Given the description of an element on the screen output the (x, y) to click on. 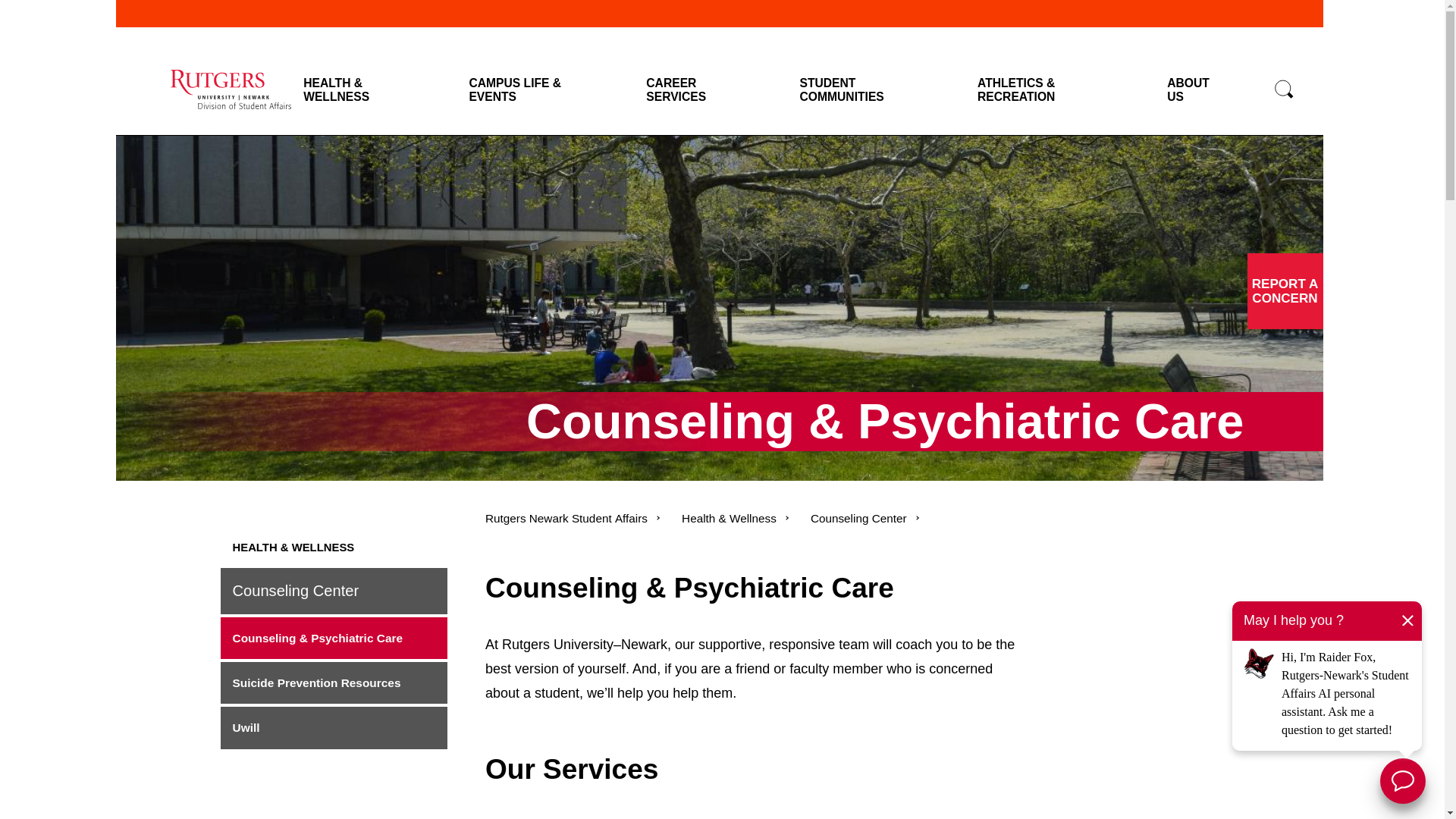
Cancel (1407, 620)
CAREER SERVICES (689, 90)
